Given the description of an element on the screen output the (x, y) to click on. 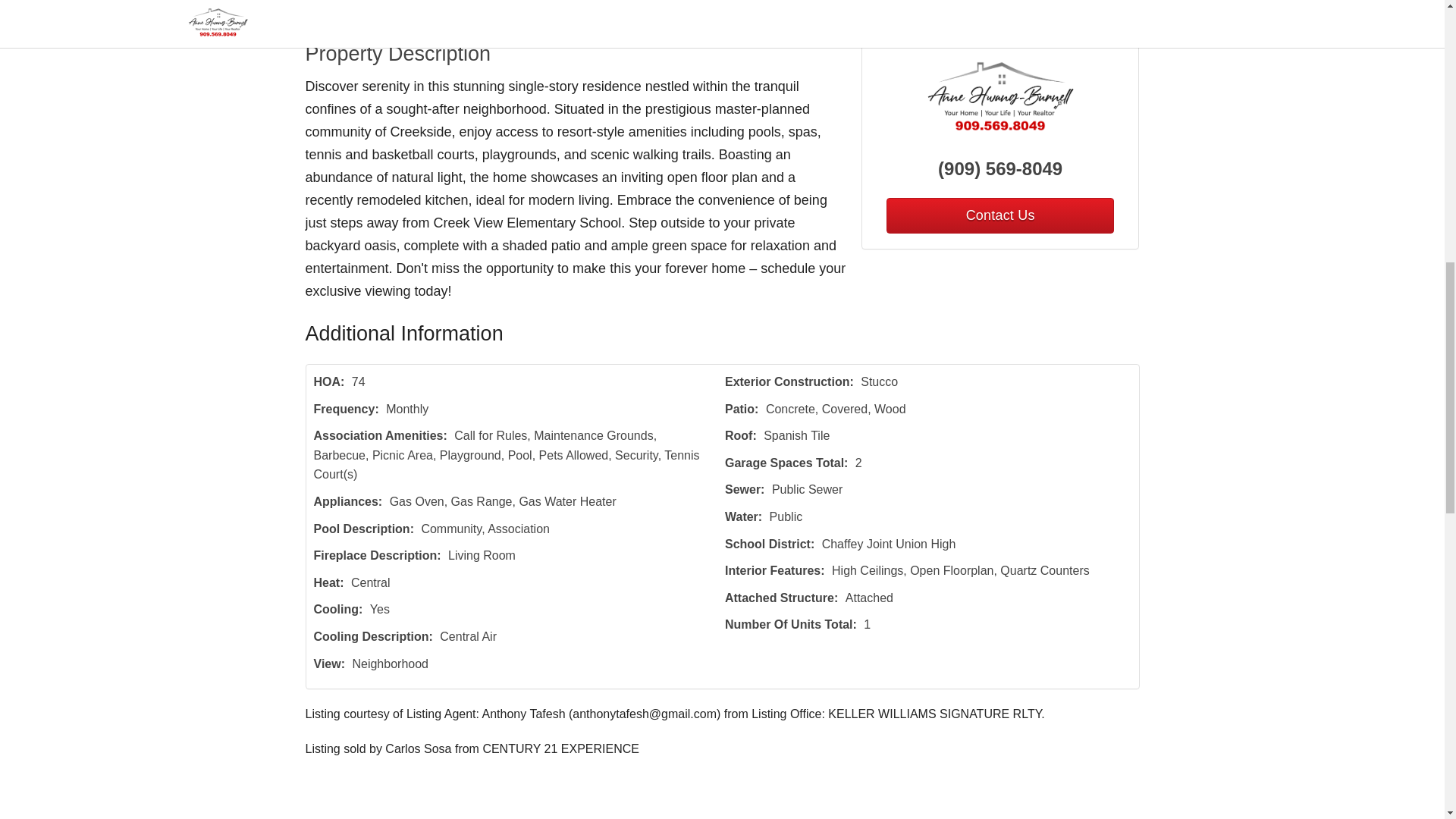
Share (583, 11)
Call Us (427, 11)
New Search (1094, 11)
Contact Us (354, 11)
Contact Us (999, 215)
View on Map (507, 11)
